Given the description of an element on the screen output the (x, y) to click on. 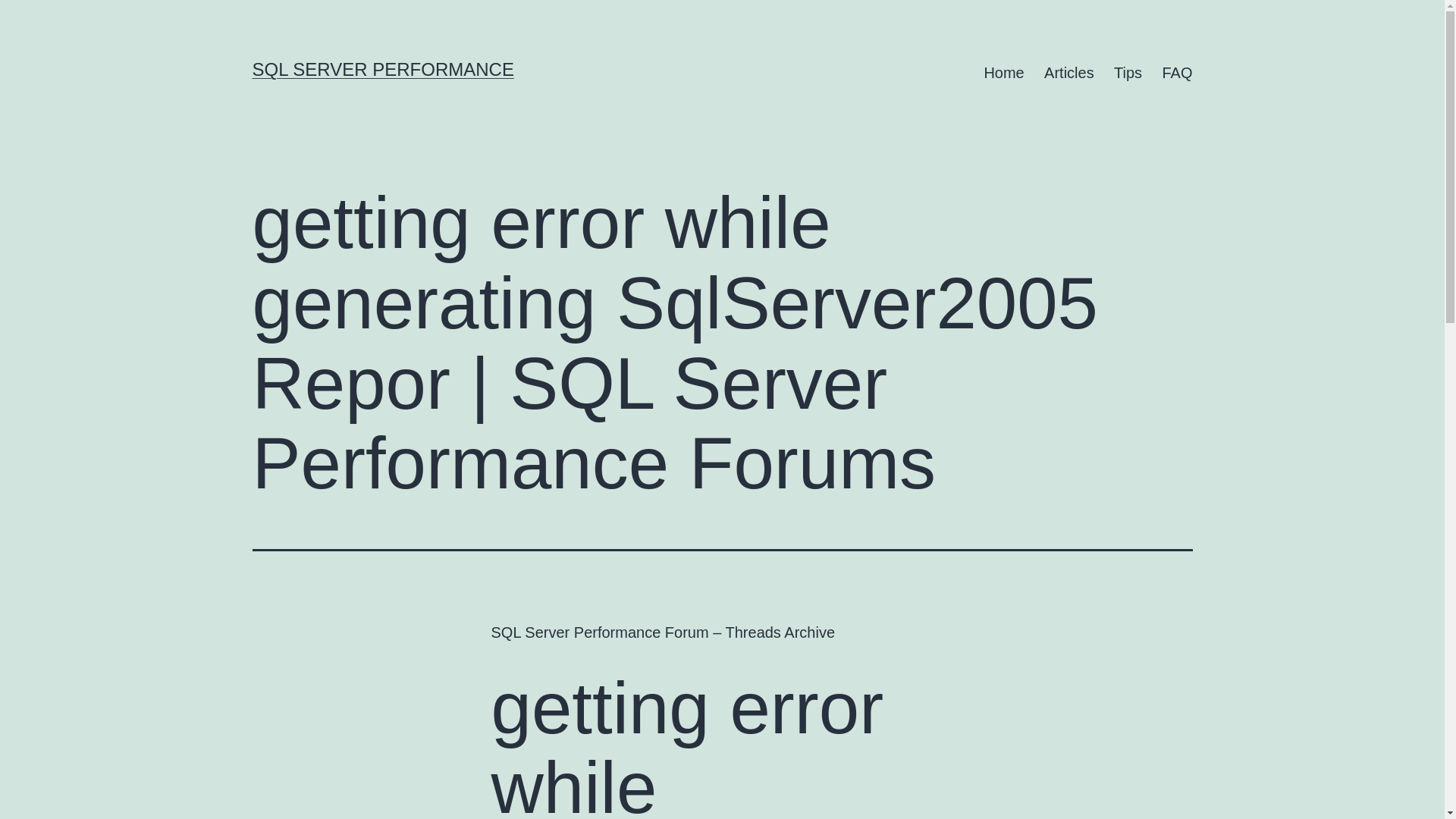
Home (1003, 72)
SQL SERVER PERFORMANCE (382, 68)
FAQ (1176, 72)
Articles (1068, 72)
Tips (1127, 72)
